Given the description of an element on the screen output the (x, y) to click on. 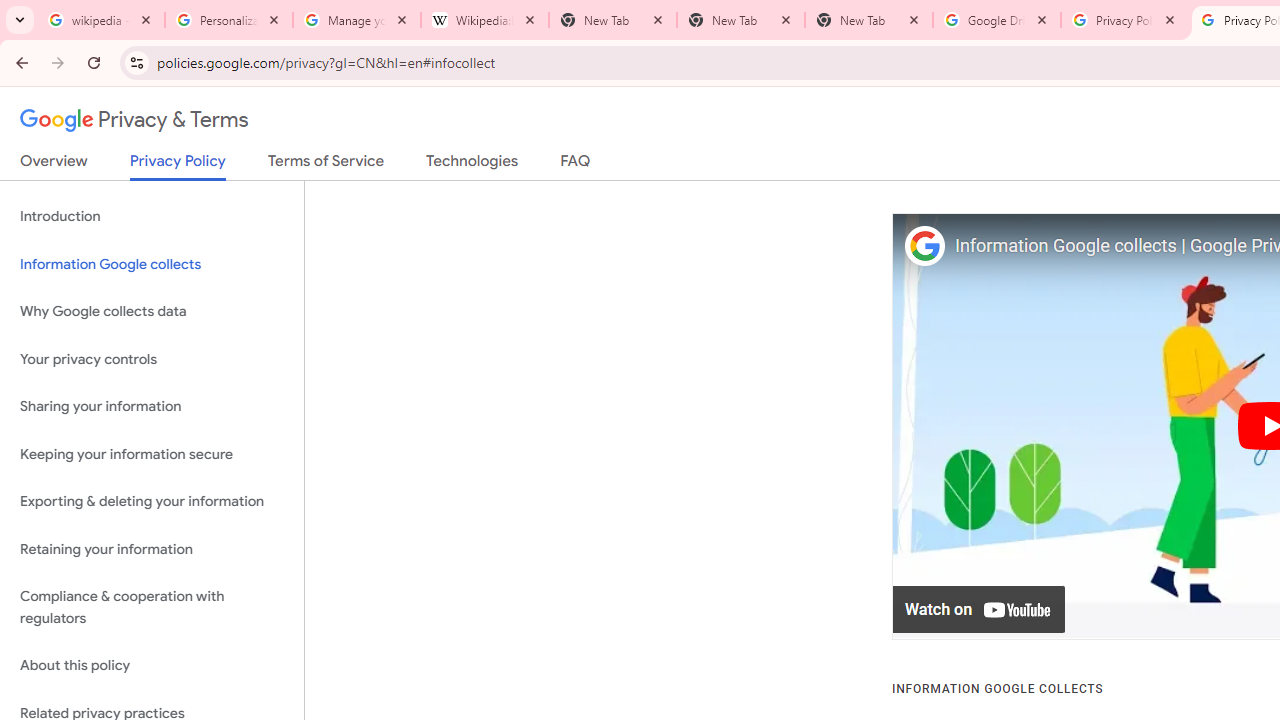
Sharing your information (152, 407)
Personalization & Google Search results - Google Search Help (229, 20)
Information Google collects (152, 263)
Why Google collects data (152, 312)
About this policy (152, 666)
Manage your Location History - Google Search Help (357, 20)
